Given the description of an element on the screen output the (x, y) to click on. 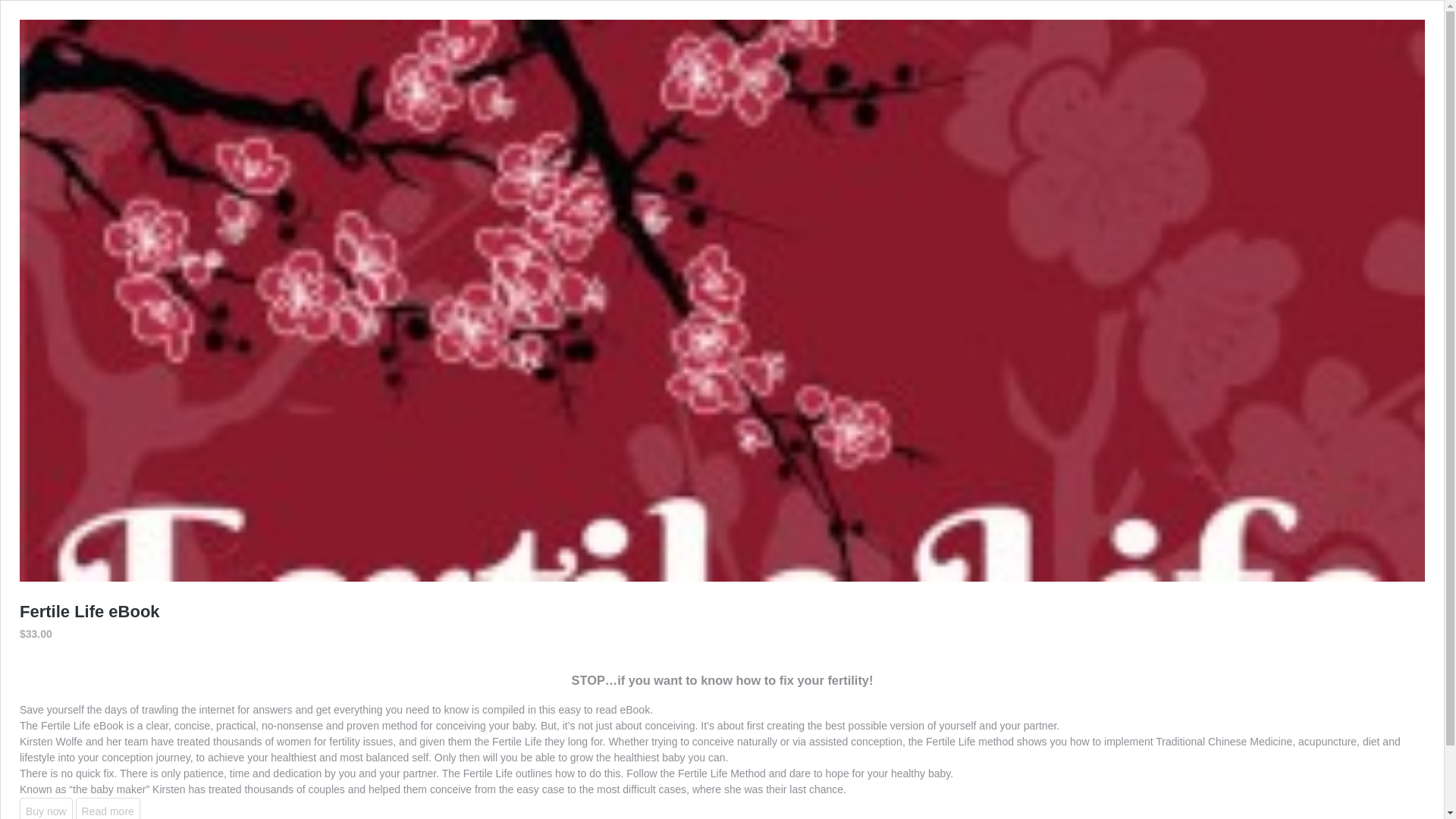
Fertile Life eBook Element type: text (89, 611)
